Given the description of an element on the screen output the (x, y) to click on. 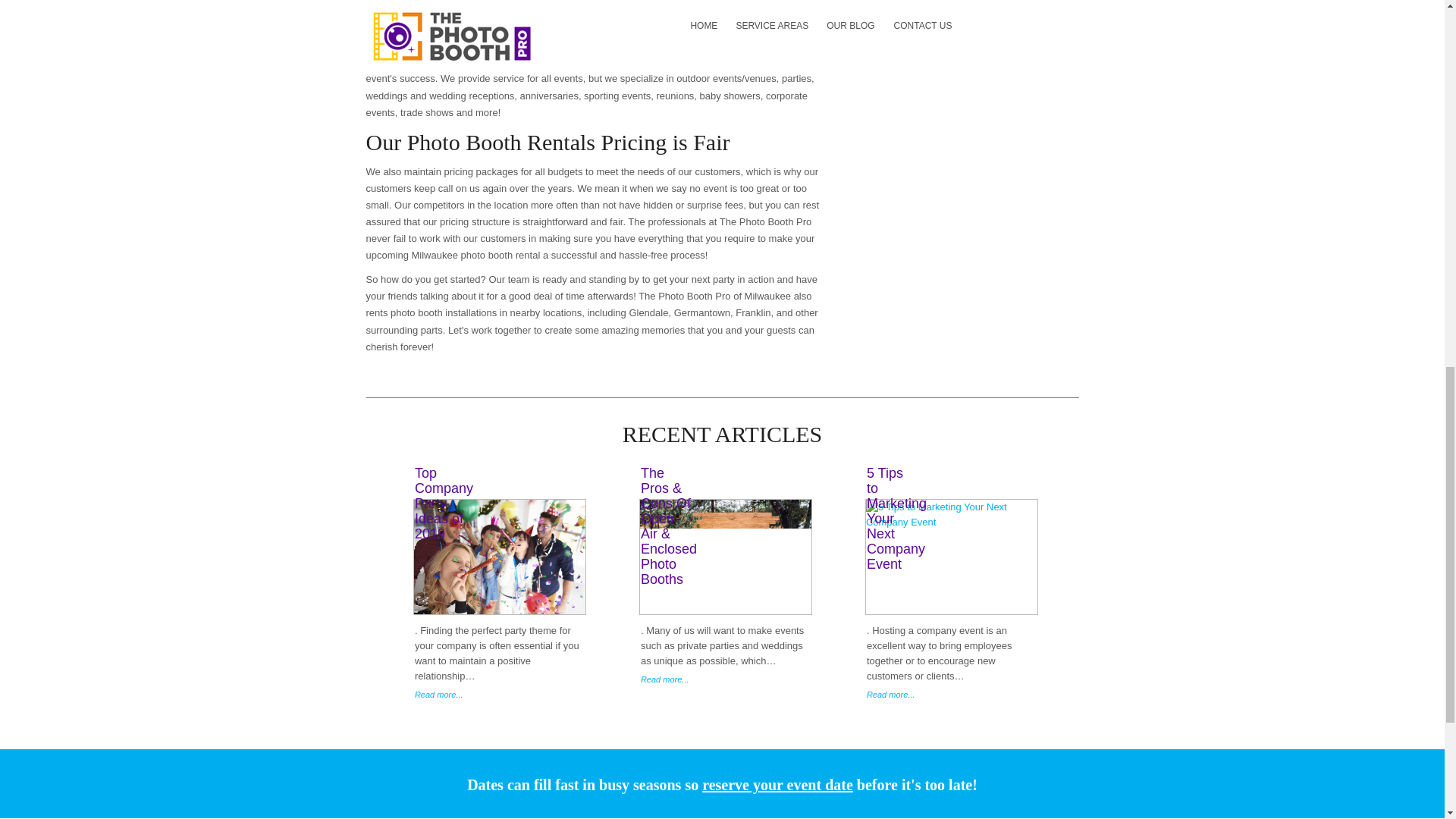
Read more... (952, 694)
Read more... (726, 679)
Read more... (500, 694)
